Given the description of an element on the screen output the (x, y) to click on. 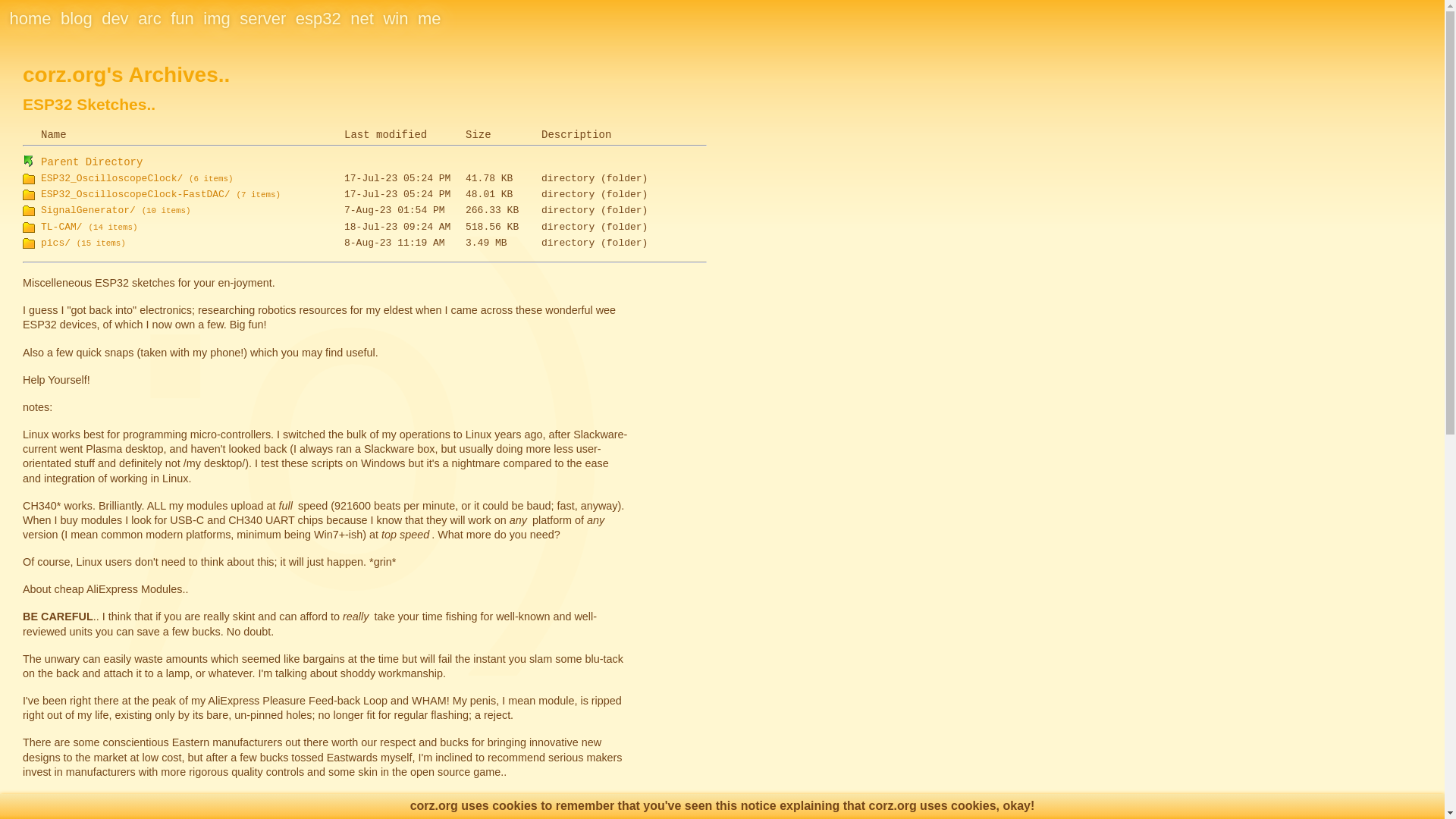
Contact page for corz.org, ways to get stuff to me.. (429, 18)
Transformative Sketches for your ESP32 Device (317, 18)
server (262, 18)
home (29, 18)
corz.org front page. welcome! (29, 18)
Parent Directory (91, 162)
blog (77, 18)
arc (149, 18)
esp32 (317, 18)
img (216, 18)
